Given the description of an element on the screen output the (x, y) to click on. 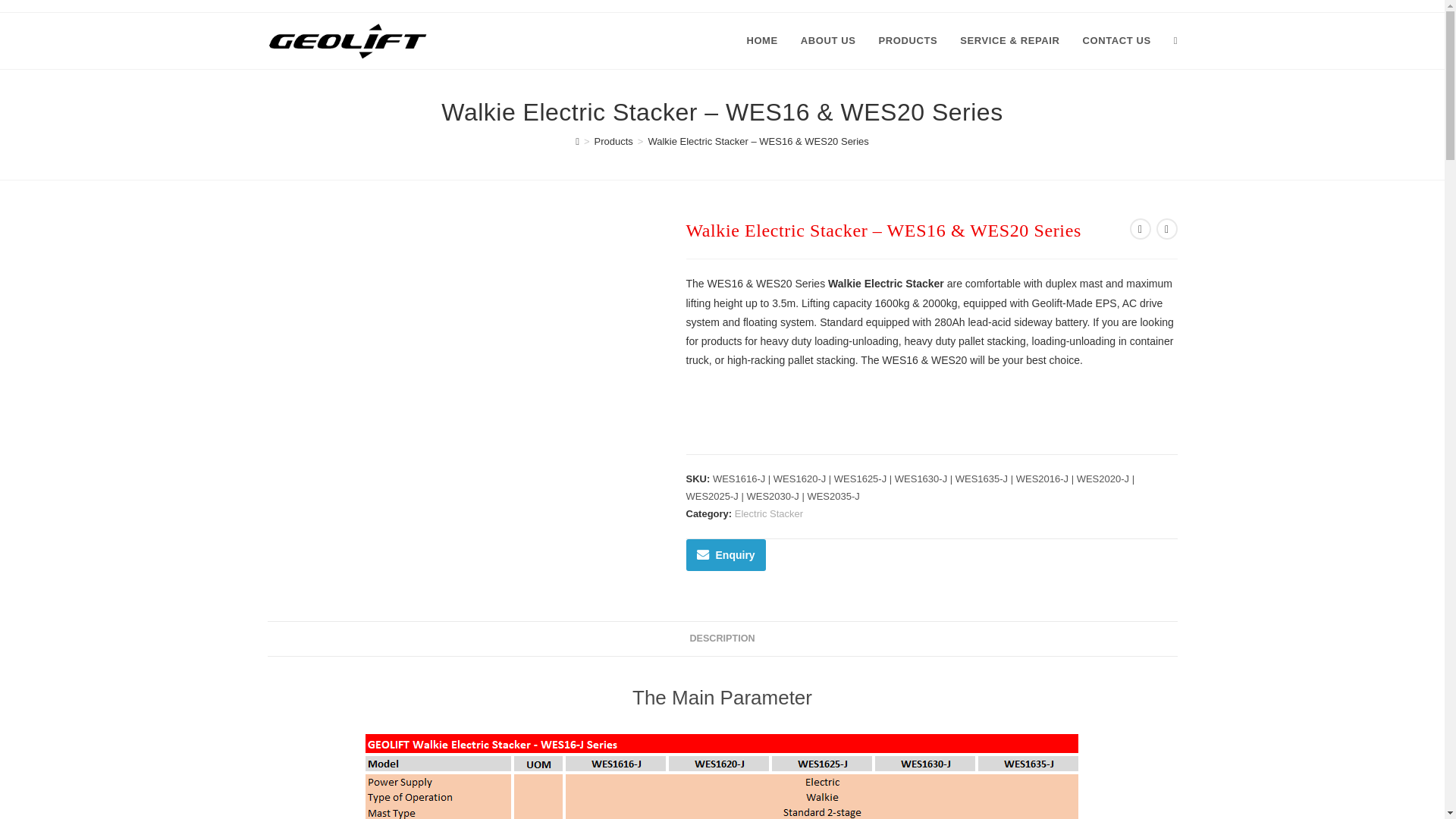
Enquiry (725, 554)
DESCRIPTION (721, 638)
PRODUCTS (908, 40)
Products (613, 141)
HOME (762, 40)
Electric Stacker (769, 513)
CONTACT US (1115, 40)
ABOUT US (828, 40)
